Given the description of an element on the screen output the (x, y) to click on. 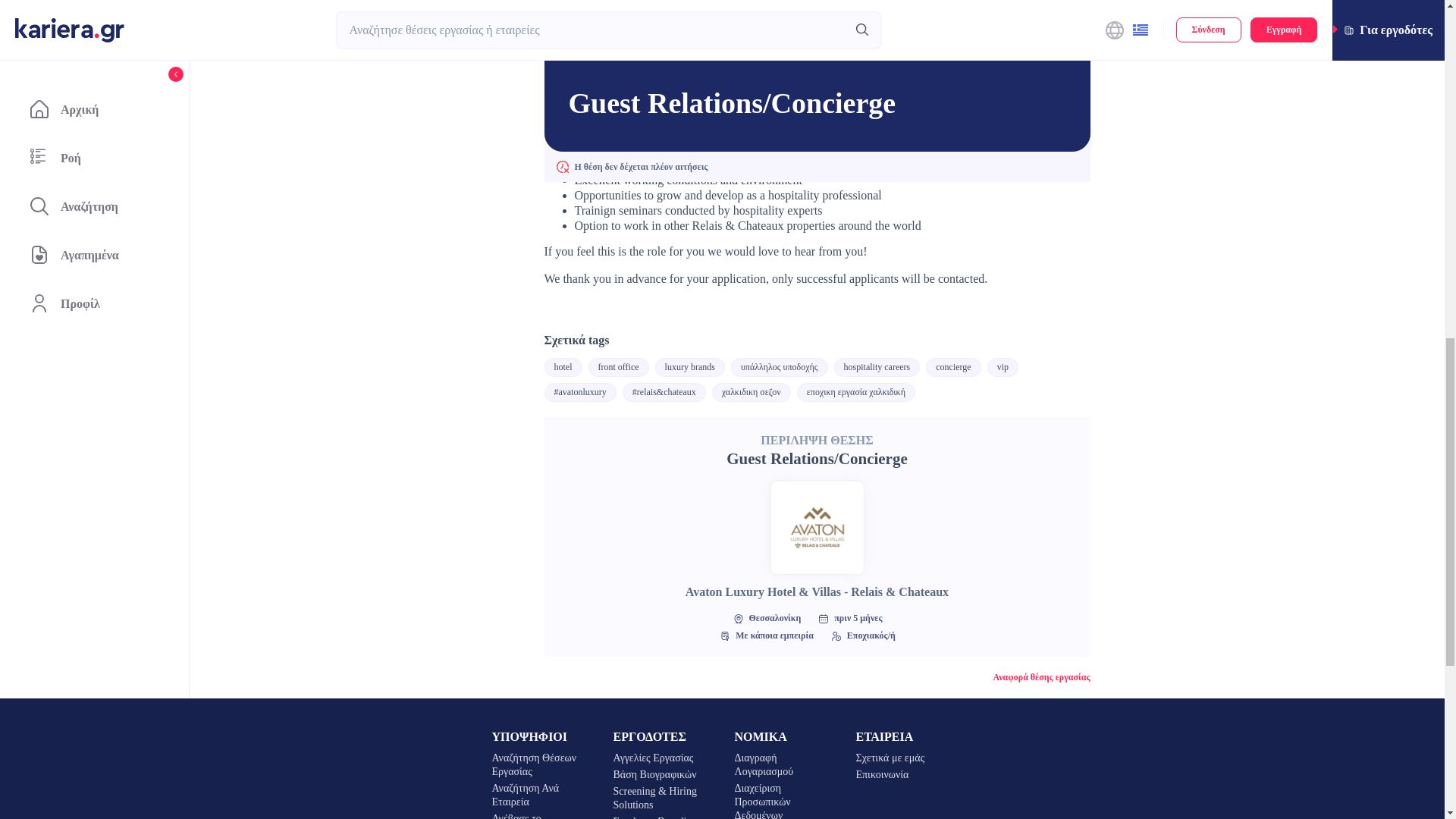
hospitality careers (877, 366)
luxury brands (690, 366)
Employer Branding Solutions (661, 816)
concierge (952, 366)
front office (618, 366)
hotel (563, 366)
vip (1002, 366)
